Given the description of an element on the screen output the (x, y) to click on. 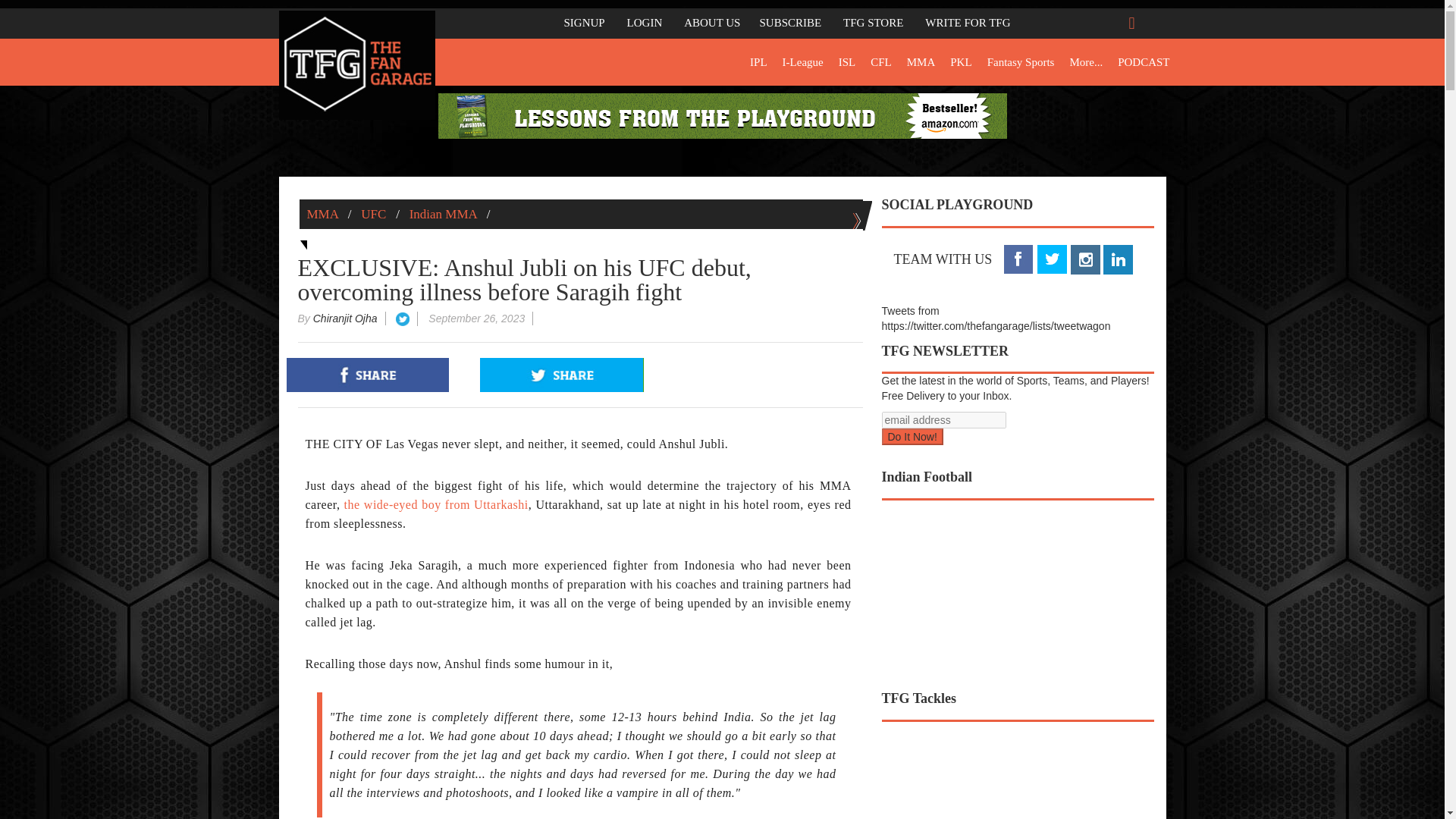
Do It Now! (911, 436)
